Given the description of an element on the screen output the (x, y) to click on. 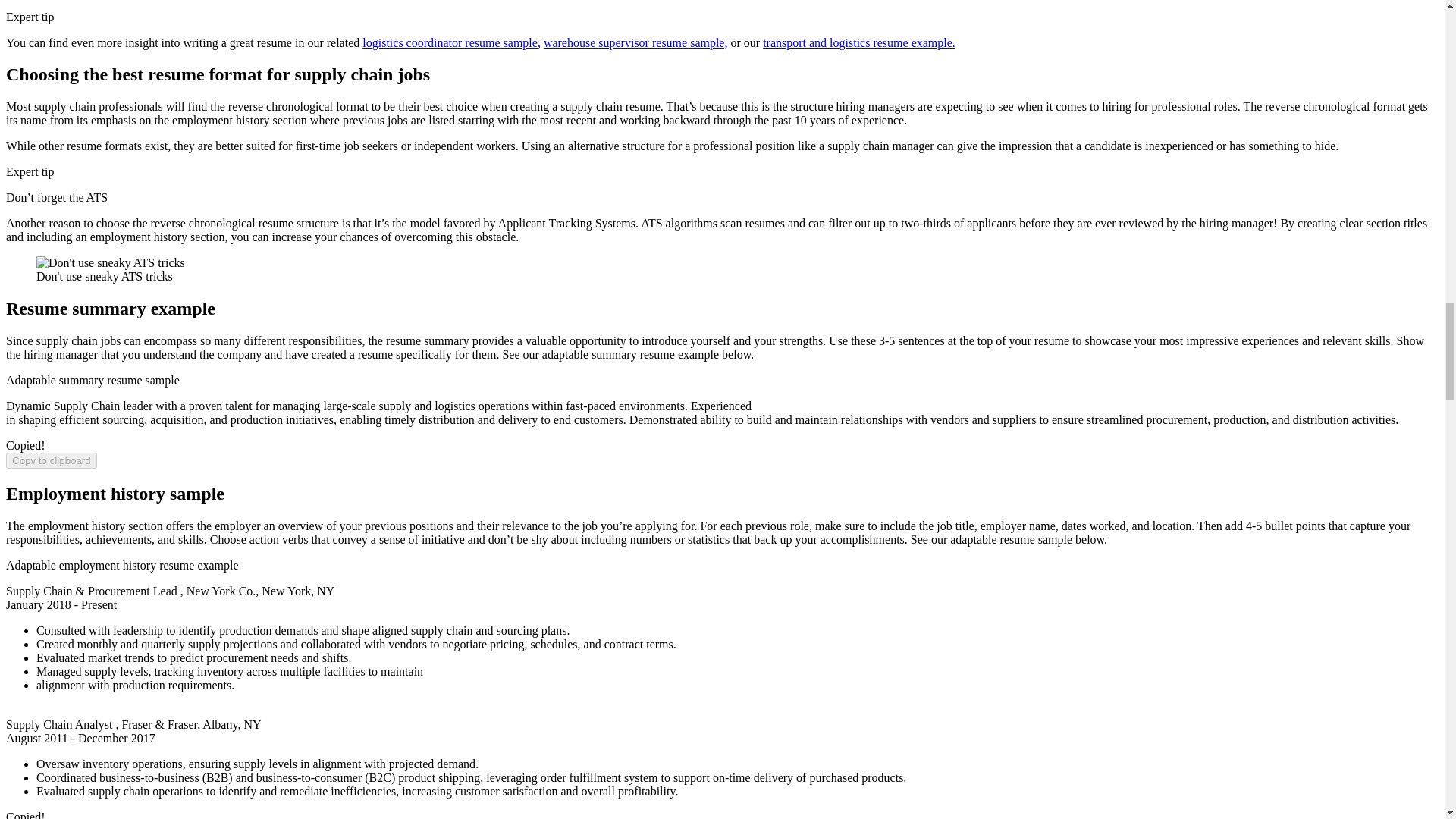
Don't use sneaky ATS tricks (110, 263)
